Given the description of an element on the screen output the (x, y) to click on. 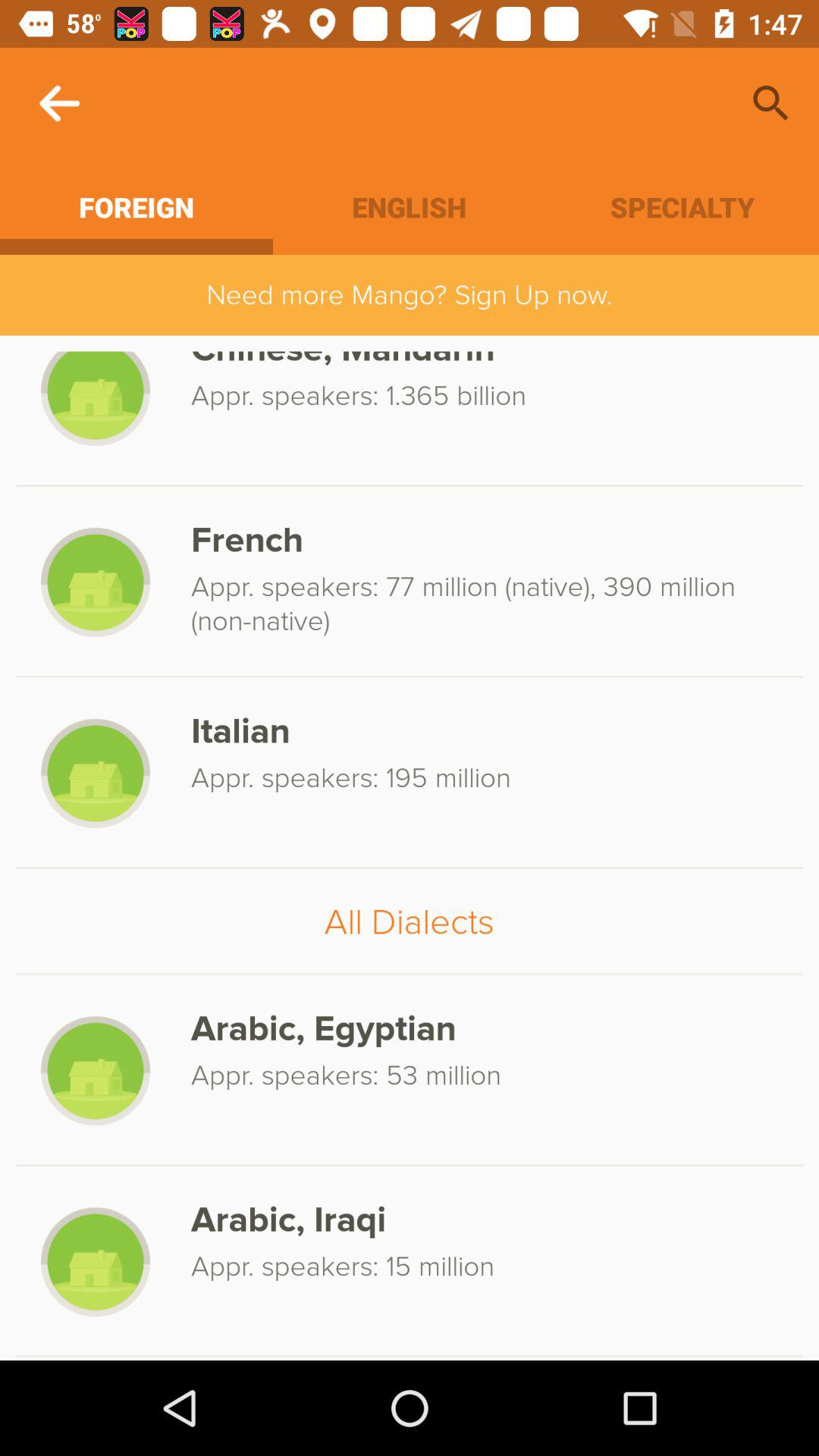
launch the icon above the foreign icon (59, 103)
